Given the description of an element on the screen output the (x, y) to click on. 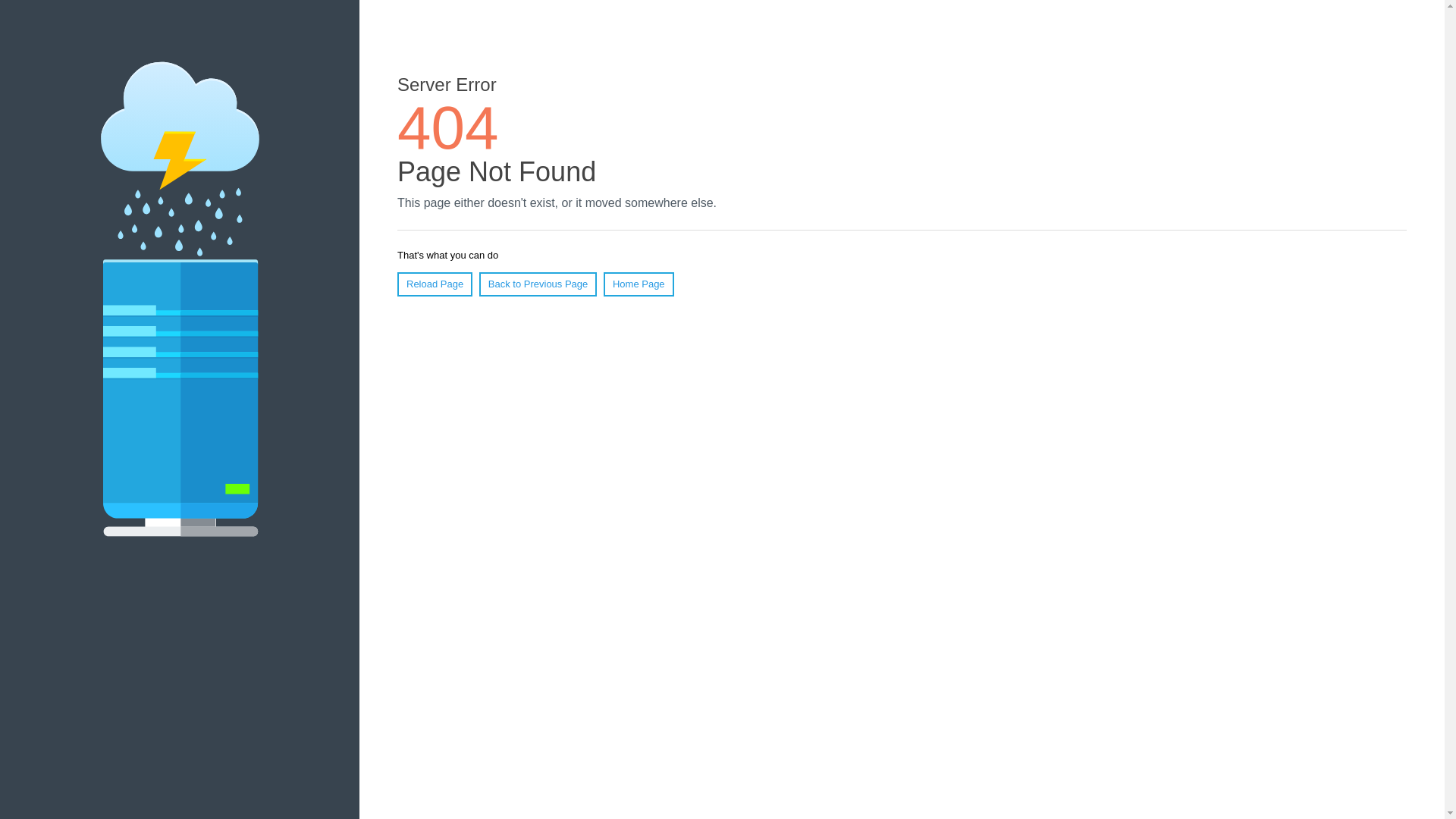
Reload Page Element type: text (434, 284)
Home Page Element type: text (638, 284)
Back to Previous Page Element type: text (538, 284)
